Given the description of an element on the screen output the (x, y) to click on. 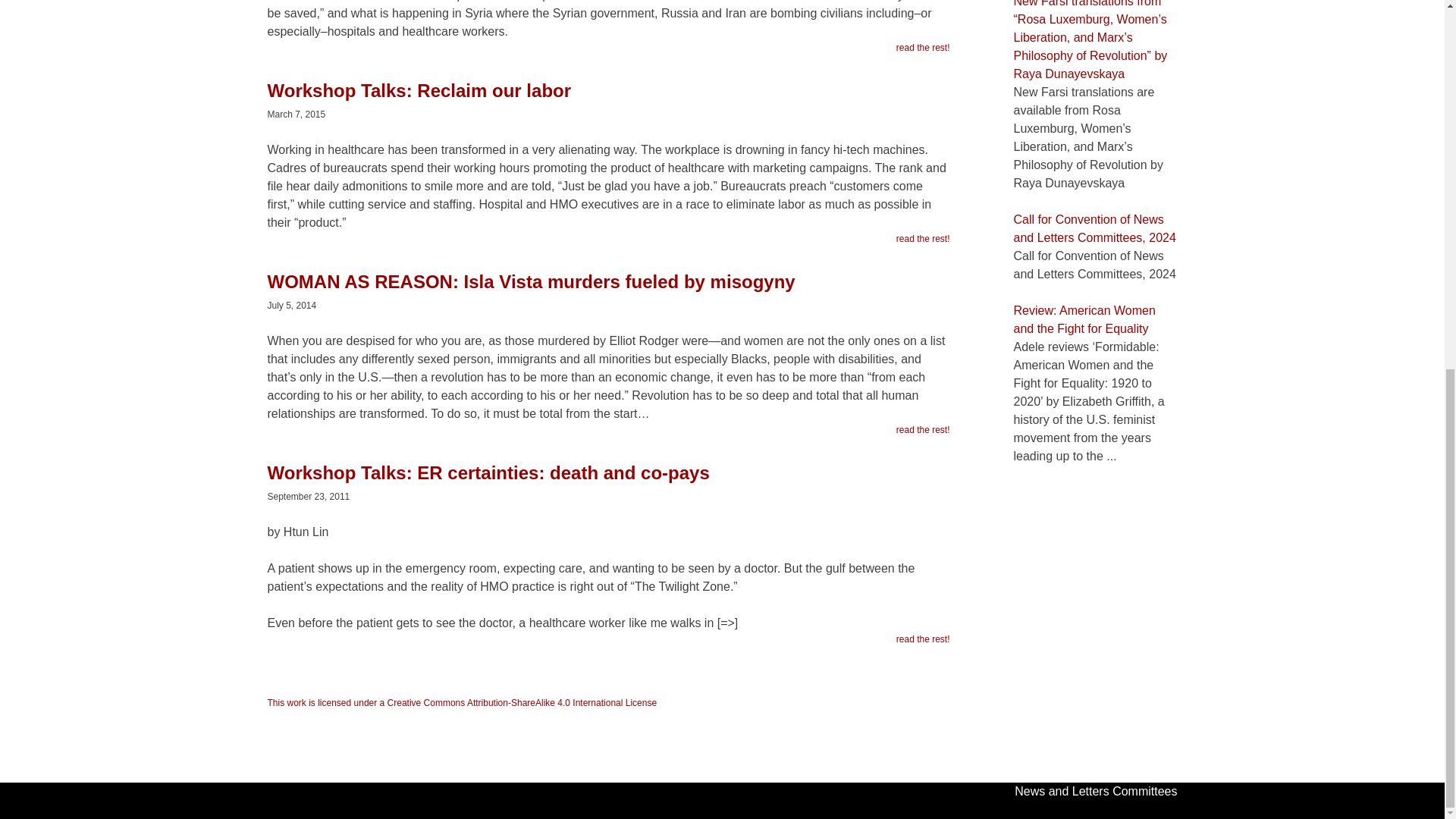
Workshop Talks: ER certainties: death and co-pays (607, 480)
Workshop Talks: Reclaim our labor (607, 97)
read the rest! (923, 639)
read the rest! (923, 238)
Review: American Women and the Fight for Equality (1083, 318)
Call for Convention of News and Letters Committees, 2024 (1093, 228)
read the rest! (923, 47)
read the rest! (923, 429)
WOMAN AS REASON: Isla Vista murders fueled by misogyny (607, 289)
